Given the description of an element on the screen output the (x, y) to click on. 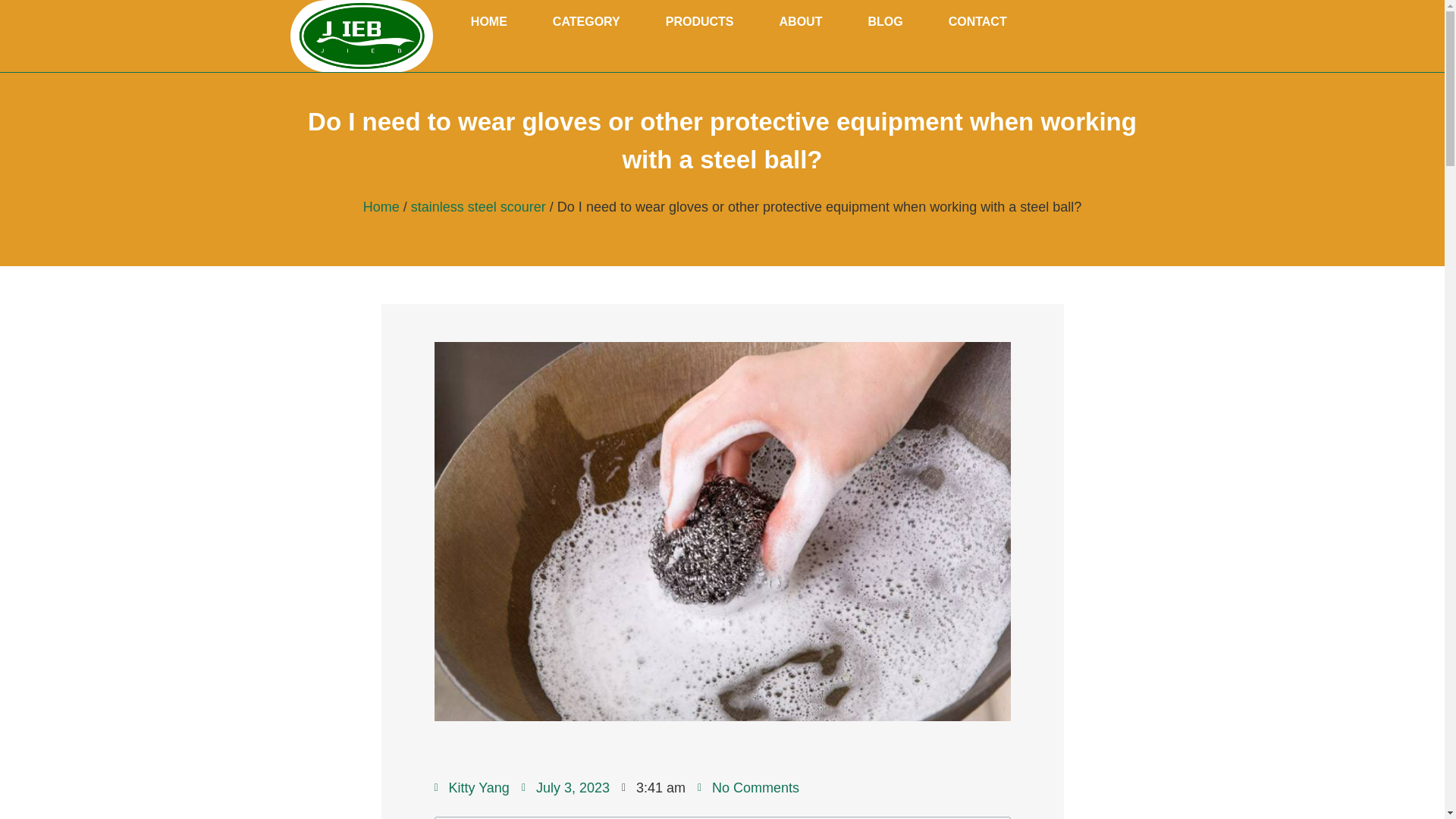
BLOG (884, 22)
ABOUT (801, 22)
PRODUCTS (699, 22)
stainless steel scourer (478, 206)
CATEGORY (585, 22)
Kitty Yang (470, 787)
HOME (488, 22)
CONTACT (977, 22)
Home (380, 206)
No Comments (748, 787)
